Given the description of an element on the screen output the (x, y) to click on. 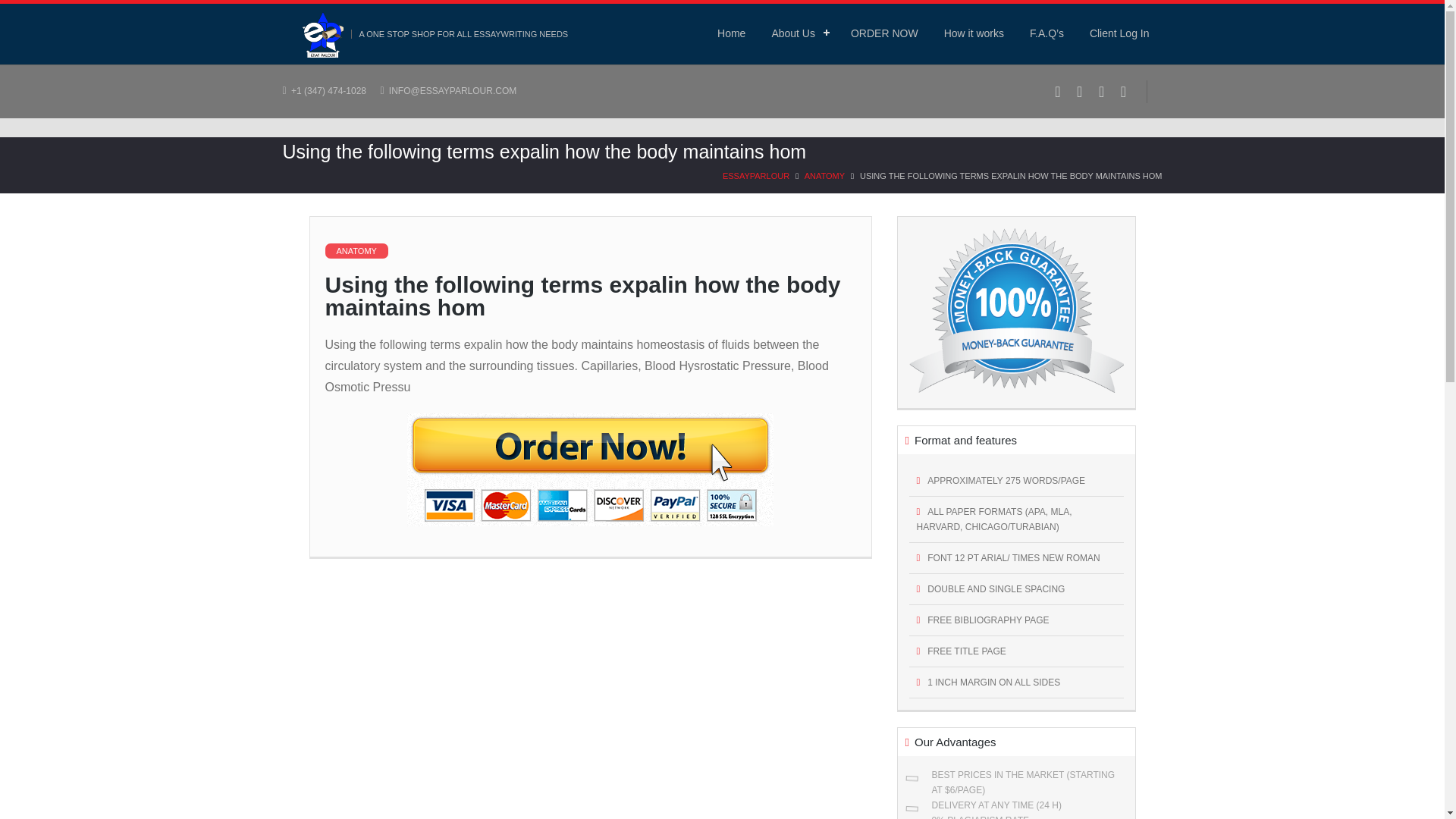
ORDER NOW (884, 33)
About Us (798, 33)
FREE BIBLIOGRAPHY PAGE (1015, 620)
How it works (973, 33)
ANATOMY (355, 250)
Twitter (1079, 91)
Facebook (1057, 91)
1 INCH MARGIN ON ALL SIDES (1015, 682)
ANATOMY (824, 175)
FREE TITLE PAGE (1015, 651)
